Given the description of an element on the screen output the (x, y) to click on. 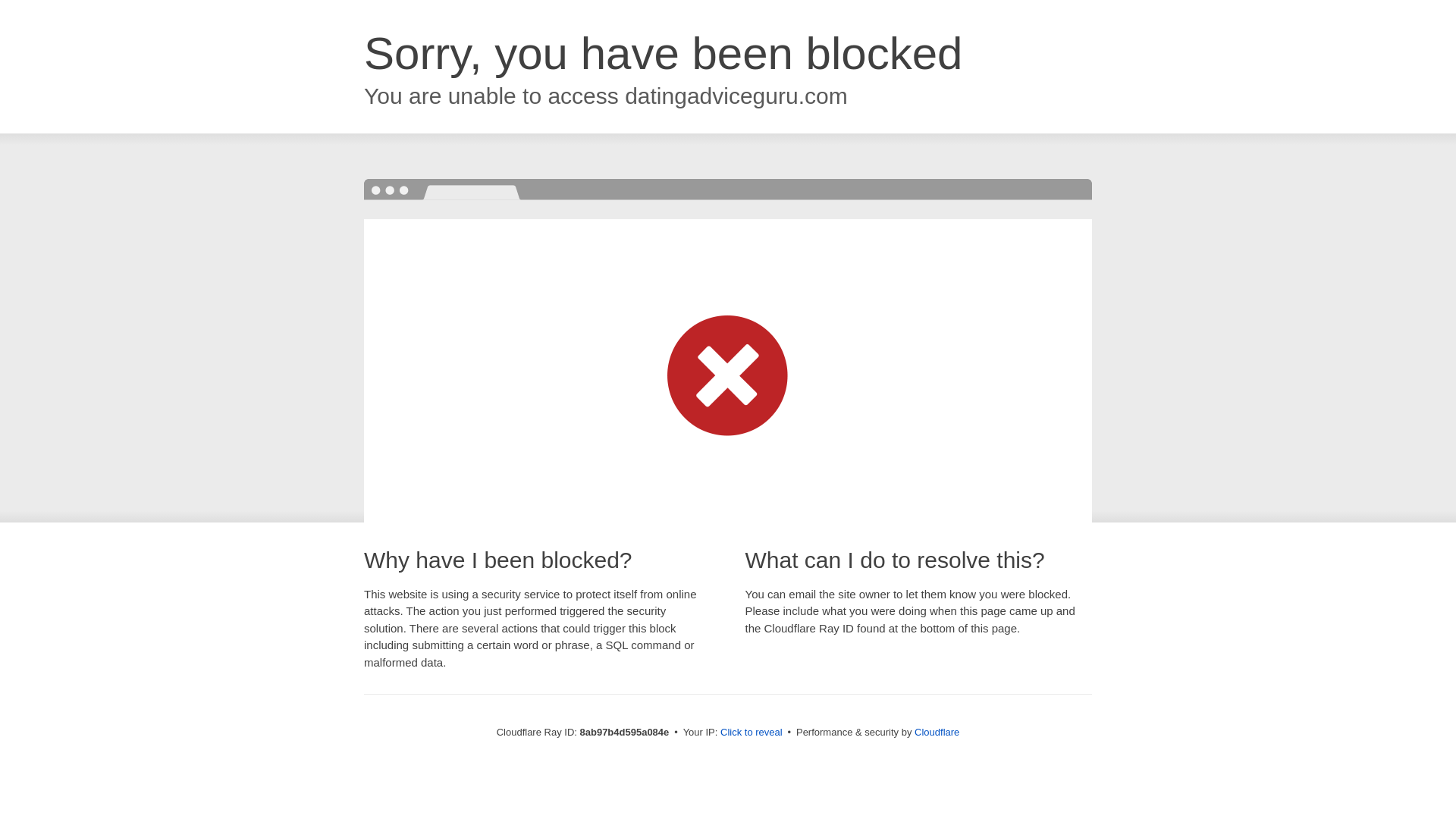
Cloudflare (936, 731)
Click to reveal (751, 732)
